Given the description of an element on the screen output the (x, y) to click on. 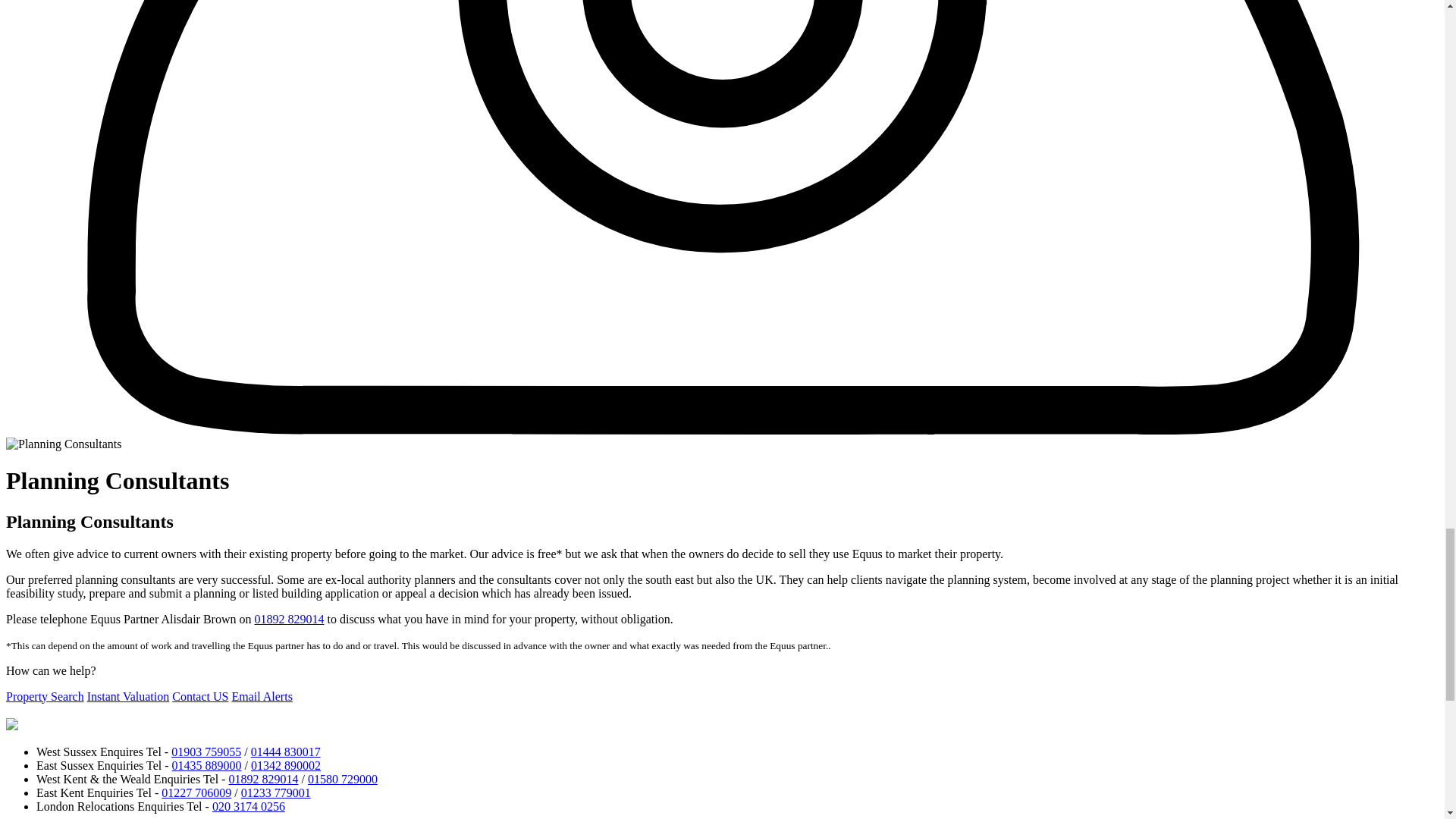
01435 889000 (206, 765)
01227 706009 (196, 792)
01233 779001 (276, 792)
01444 830017 (285, 751)
01580 729000 (342, 779)
Property Search (44, 696)
01903 759055 (206, 751)
01892 829014 (263, 779)
Instant Valuation (128, 696)
01342 890002 (285, 765)
Email Alerts (261, 696)
Contact US (199, 696)
01892 829014 (289, 618)
